Given the description of an element on the screen output the (x, y) to click on. 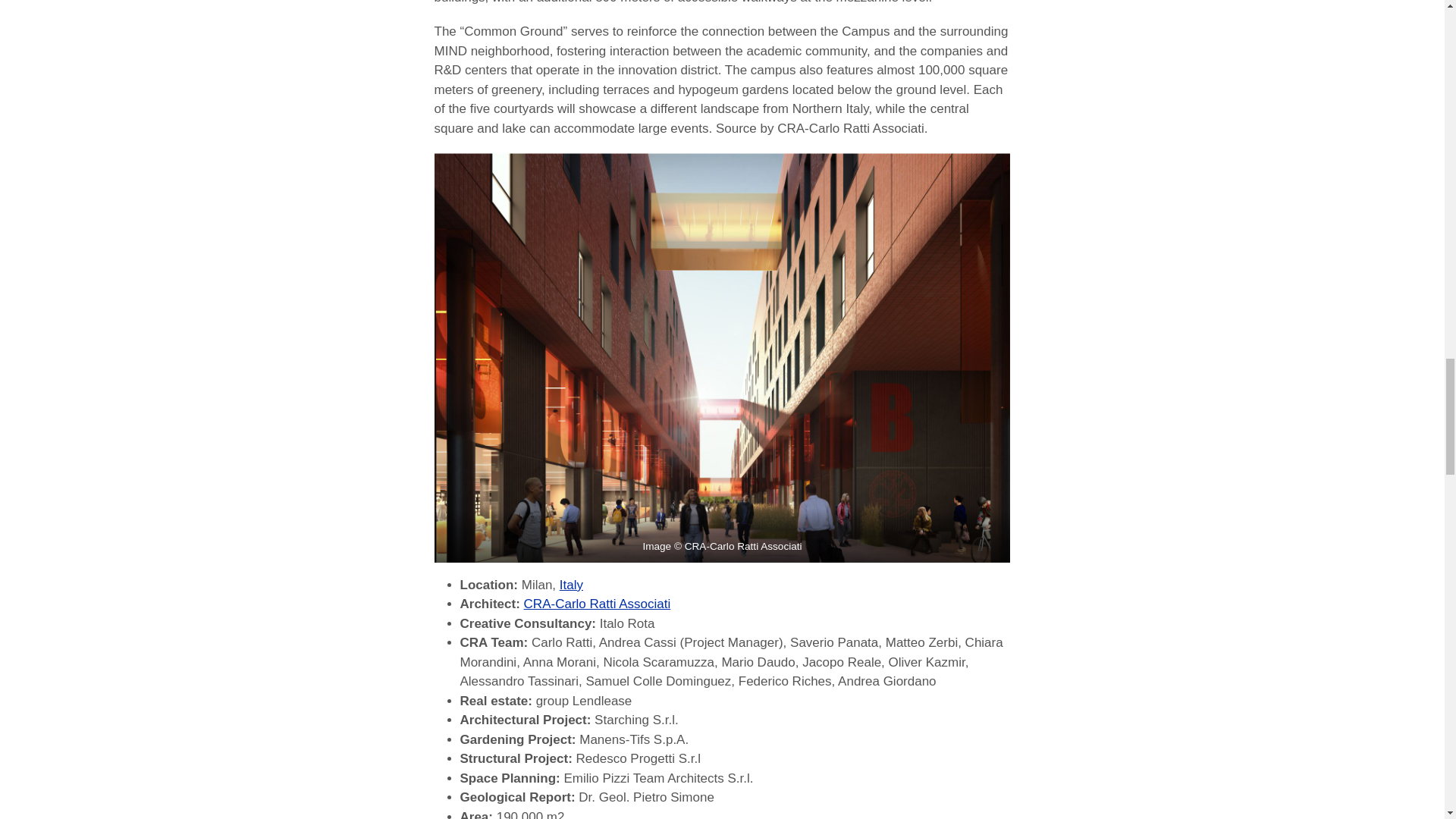
CRA-Carlo Ratti Associati (597, 603)
Italy (571, 585)
